Given the description of an element on the screen output the (x, y) to click on. 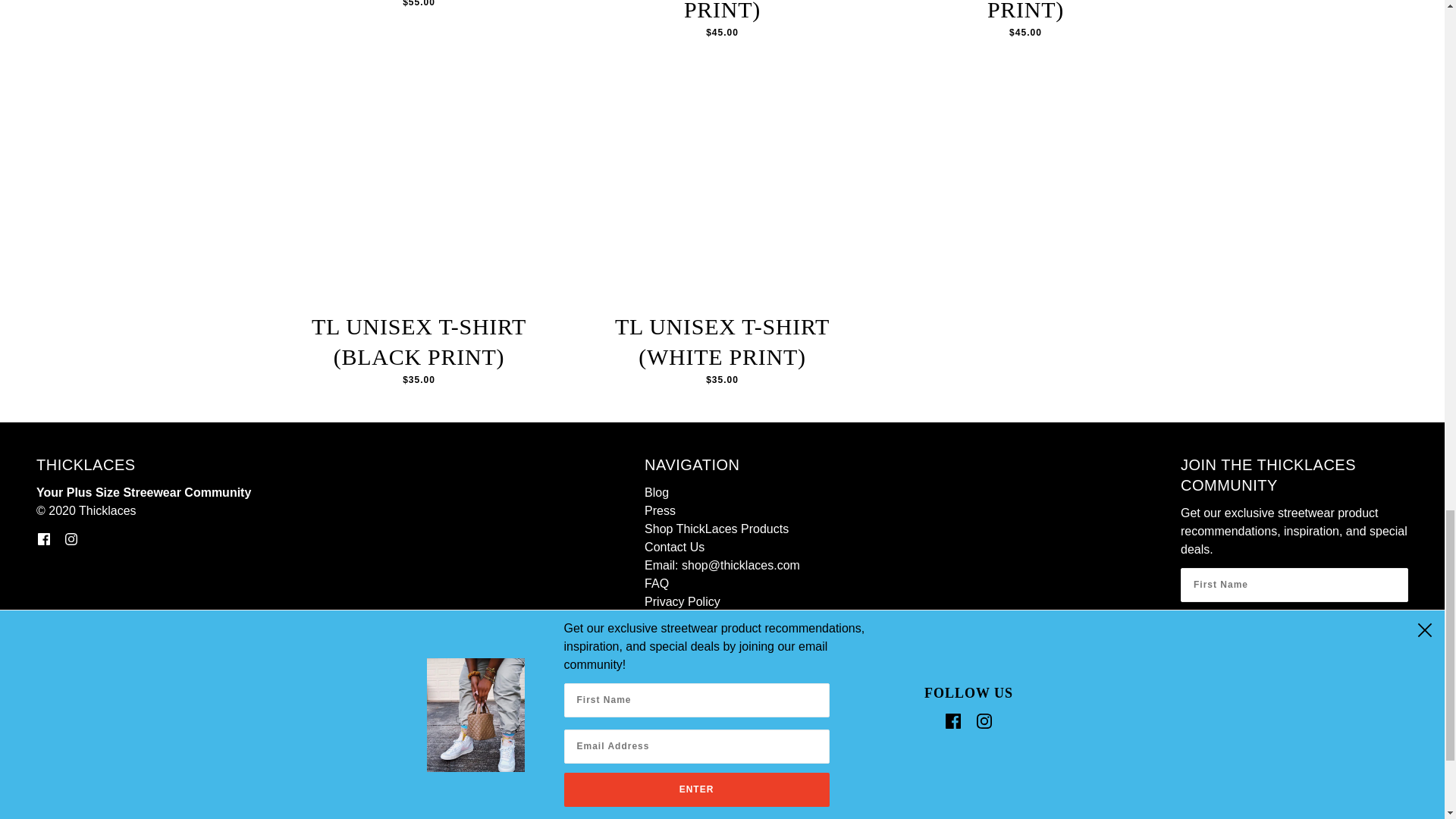
Shop Pay (1311, 717)
Mastercard (1229, 717)
Google Pay (1189, 717)
Venmo (1352, 717)
American Express (1024, 717)
Visa (1392, 717)
Apple Pay (1065, 717)
Ok (1293, 672)
Meta Pay (1147, 717)
PayPal (1270, 717)
Discover (1107, 717)
